Given the description of an element on the screen output the (x, y) to click on. 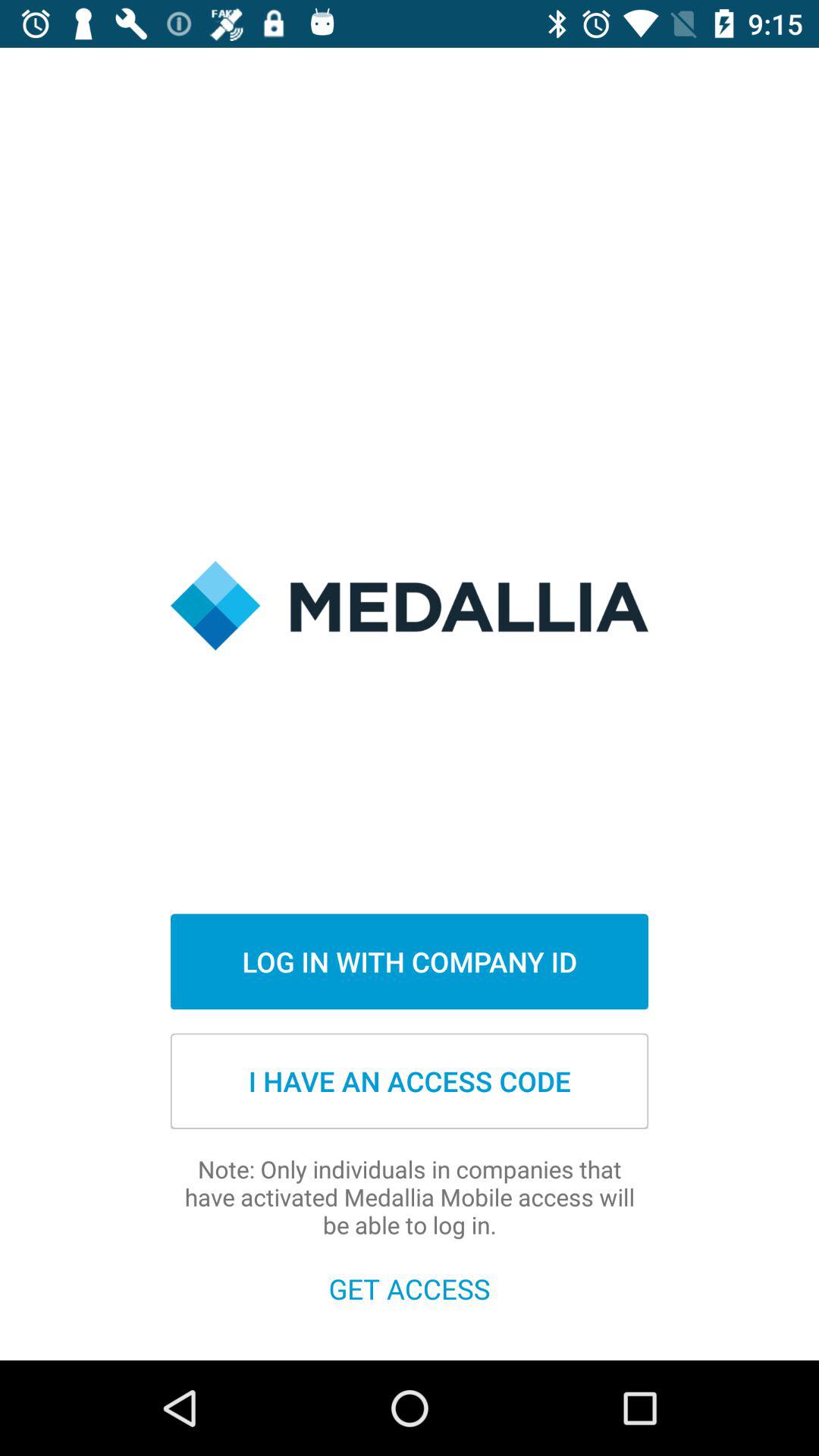
flip until i have an icon (409, 1080)
